Given the description of an element on the screen output the (x, y) to click on. 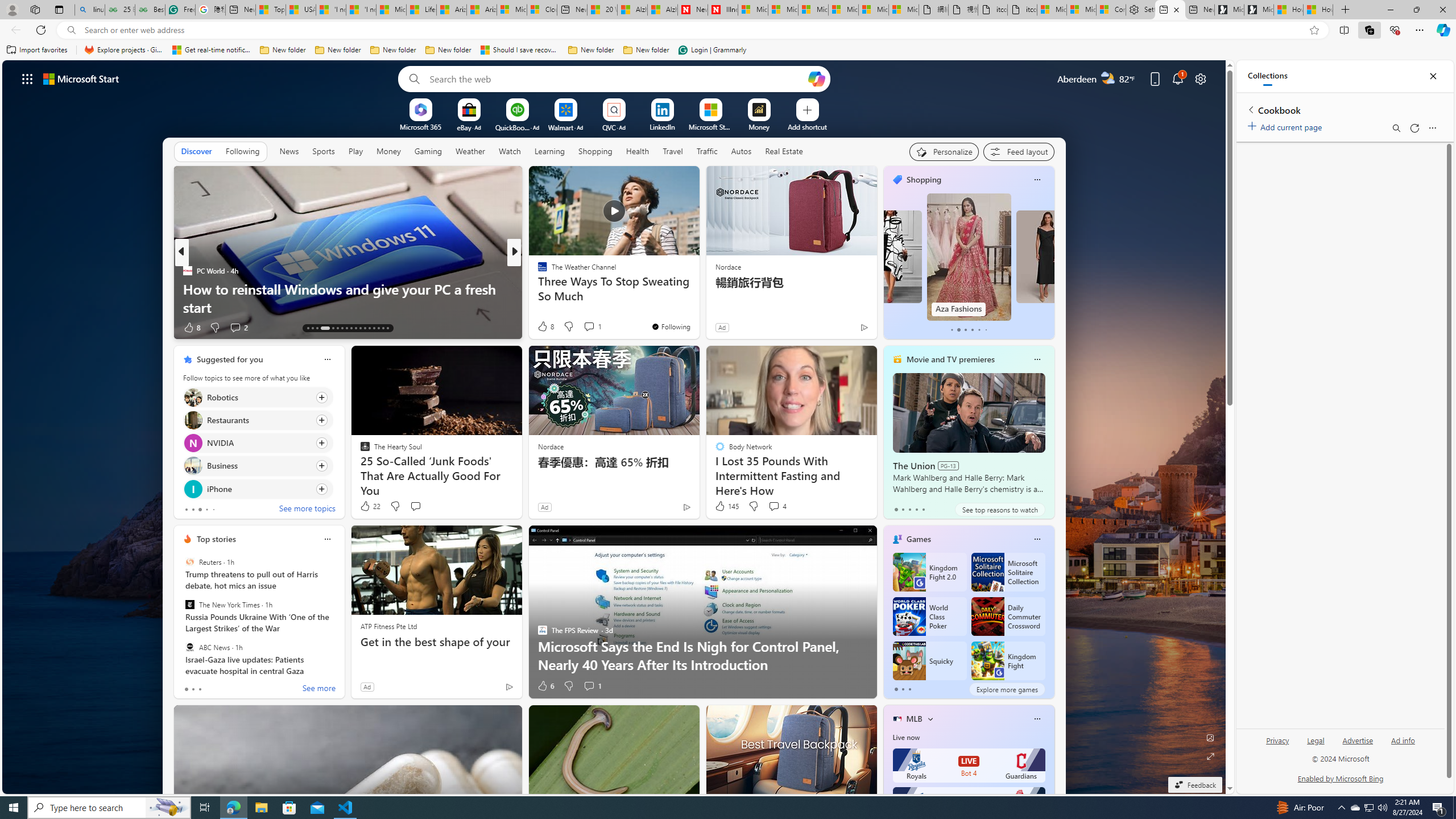
You're following The Weather Channel (670, 326)
tab-4 (923, 509)
Click to follow topic Business (257, 465)
Business (192, 466)
tab-0 (895, 689)
Health (637, 151)
Ad info (1402, 745)
Class: icon-img (1037, 718)
AutomationID: tab-26 (374, 328)
AutomationID: tab-17 (332, 328)
